Given the description of an element on the screen output the (x, y) to click on. 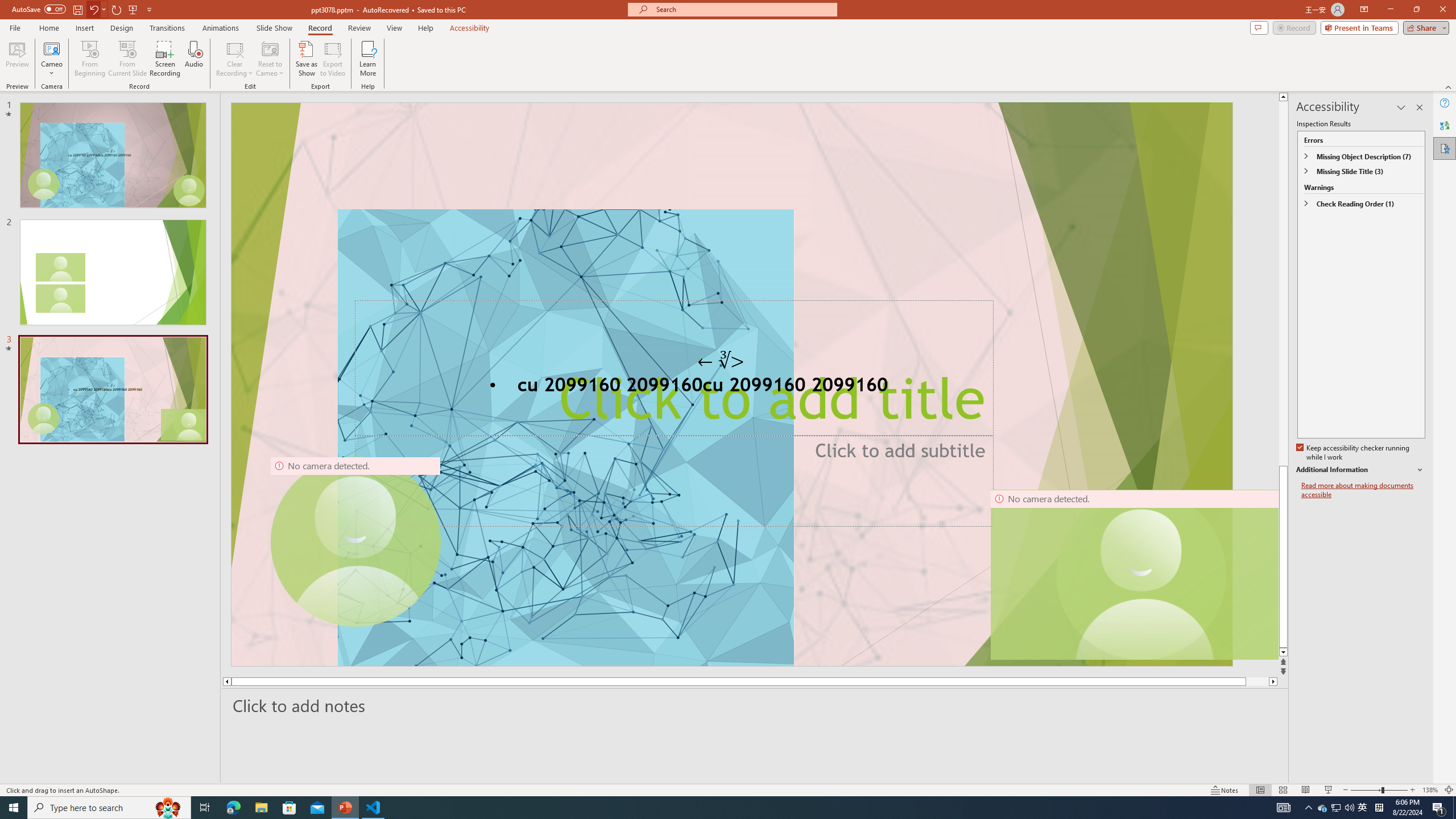
Learn More (368, 58)
TextBox 7 (720, 360)
Subtitle TextBox (673, 480)
Save as Show (306, 58)
Export to Video (332, 58)
